Given the description of an element on the screen output the (x, y) to click on. 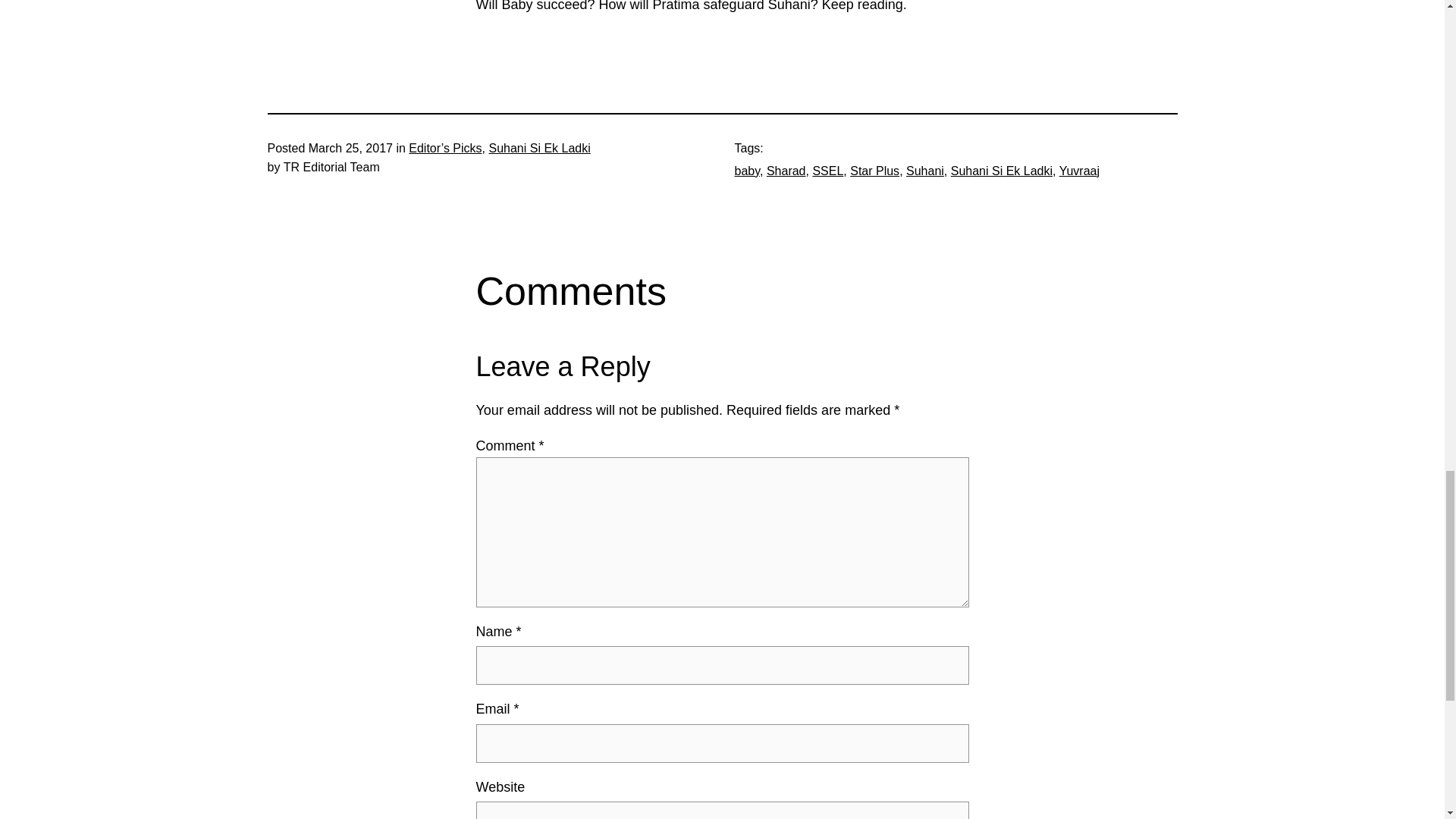
Yuvraaj (1079, 170)
Suhani (924, 170)
SSEL (827, 170)
Suhani Si Ek Ladki (1001, 170)
Sharad (786, 170)
Suhani Si Ek Ladki (538, 147)
Star Plus (874, 170)
baby (746, 170)
